Given the description of an element on the screen output the (x, y) to click on. 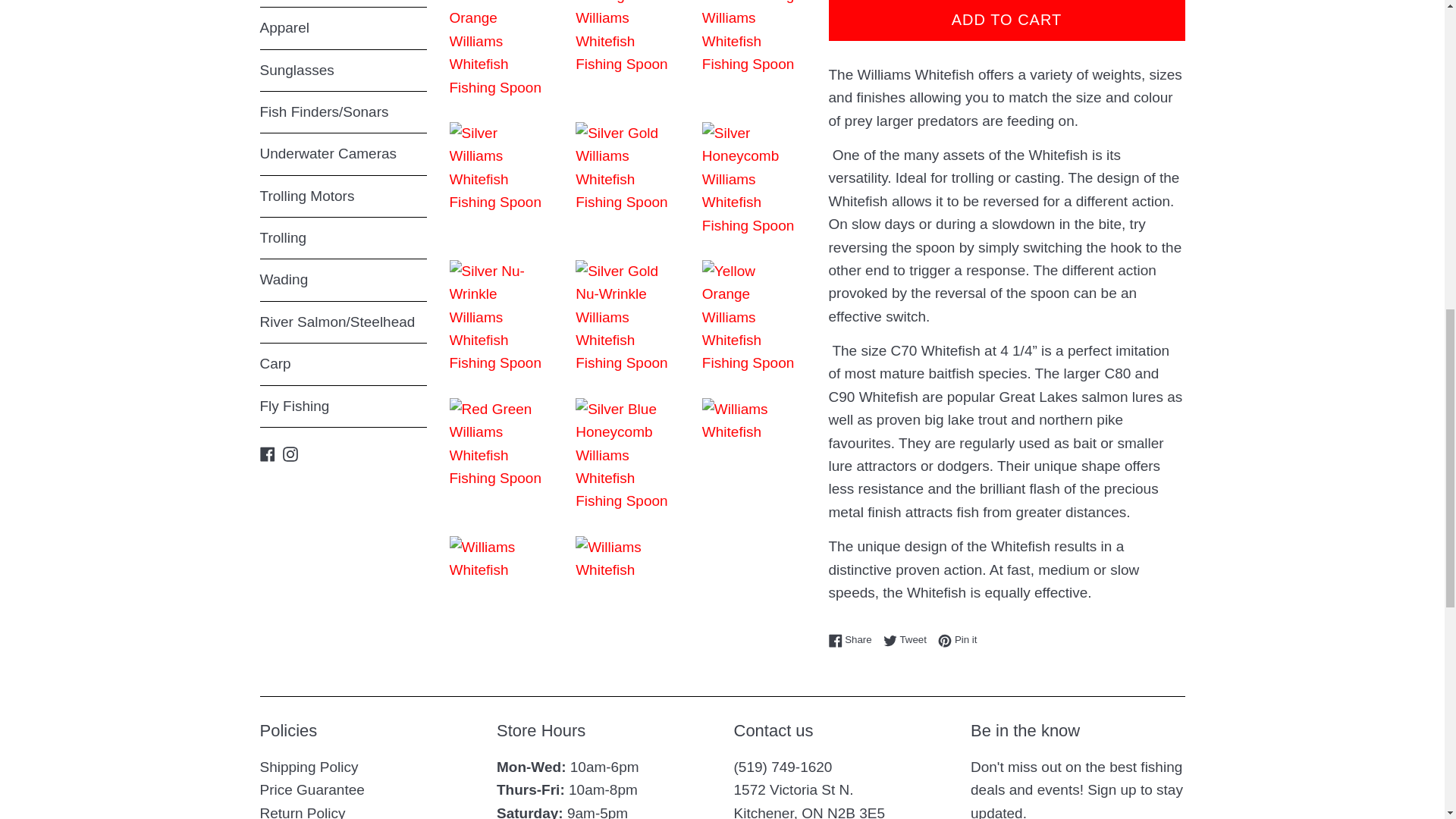
Contact Us (809, 800)
Natural Sports - The Fishing Store on Facebook (267, 453)
Pin on Pinterest (956, 639)
Contact Us (782, 766)
Tweet on Twitter (908, 639)
Natural Sports - The Fishing Store on Instagram (290, 453)
Share on Facebook (853, 639)
